Given the description of an element on the screen output the (x, y) to click on. 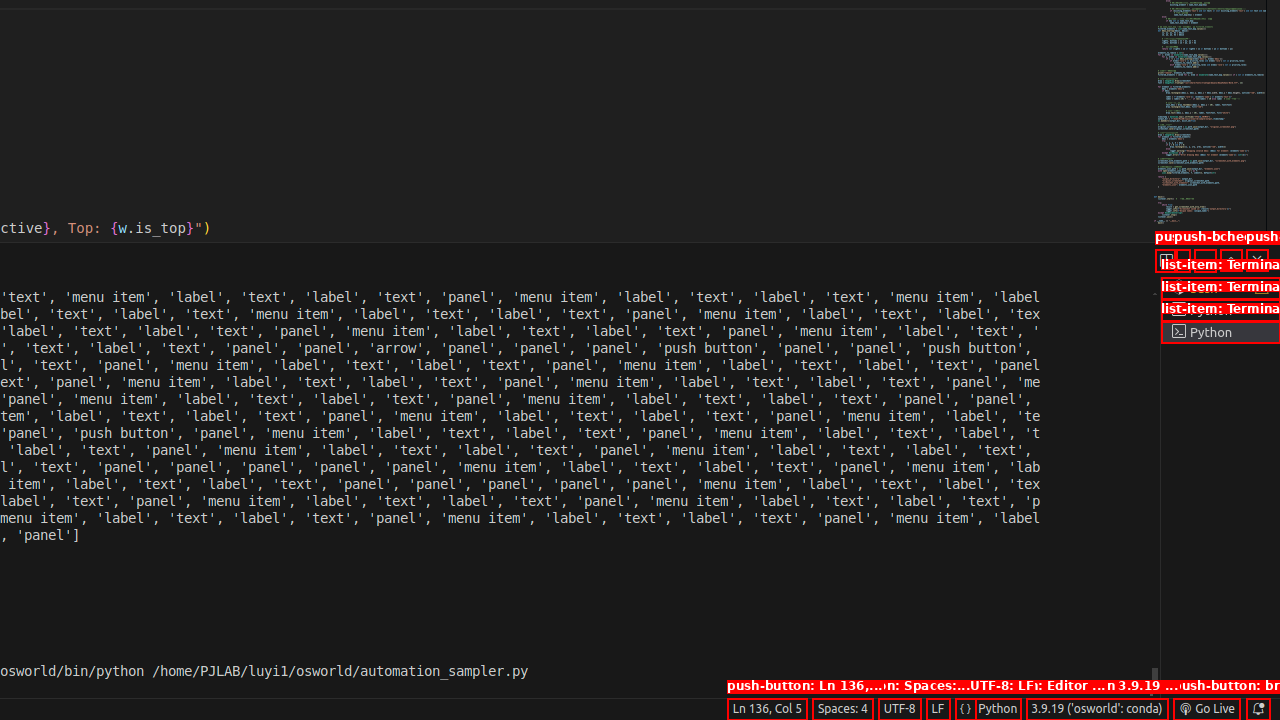
broadcast Go Live, Click to run live server Element type: push-button (1206, 709)
Maximize Panel Size Element type: check-box (1231, 260)
